Given the description of an element on the screen output the (x, y) to click on. 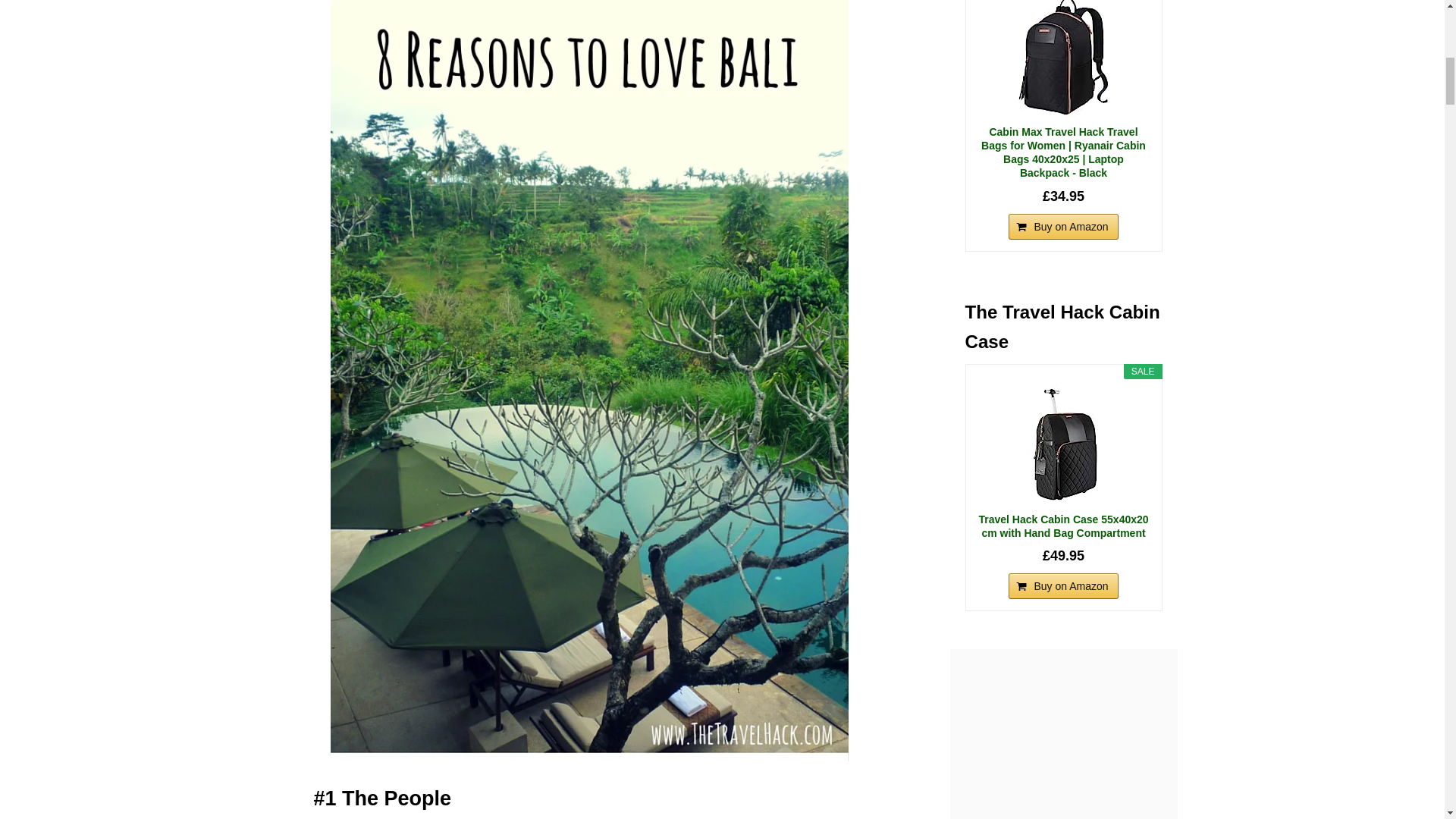
Travel Hack Cabin Case 55x40x20 cm with Hand Bag Compartment (1063, 525)
Travel Hack Cabin Case 55x40x20 cm with Hand Bag Compartment (1063, 444)
Buy on Amazon (1063, 226)
Travel Hack Cabin Case 55x40x20 cm with Hand Bag Compartment (1063, 525)
Buy on Amazon (1063, 585)
Buy on Amazon (1063, 226)
Buy on Amazon (1063, 585)
